Given the description of an element on the screen output the (x, y) to click on. 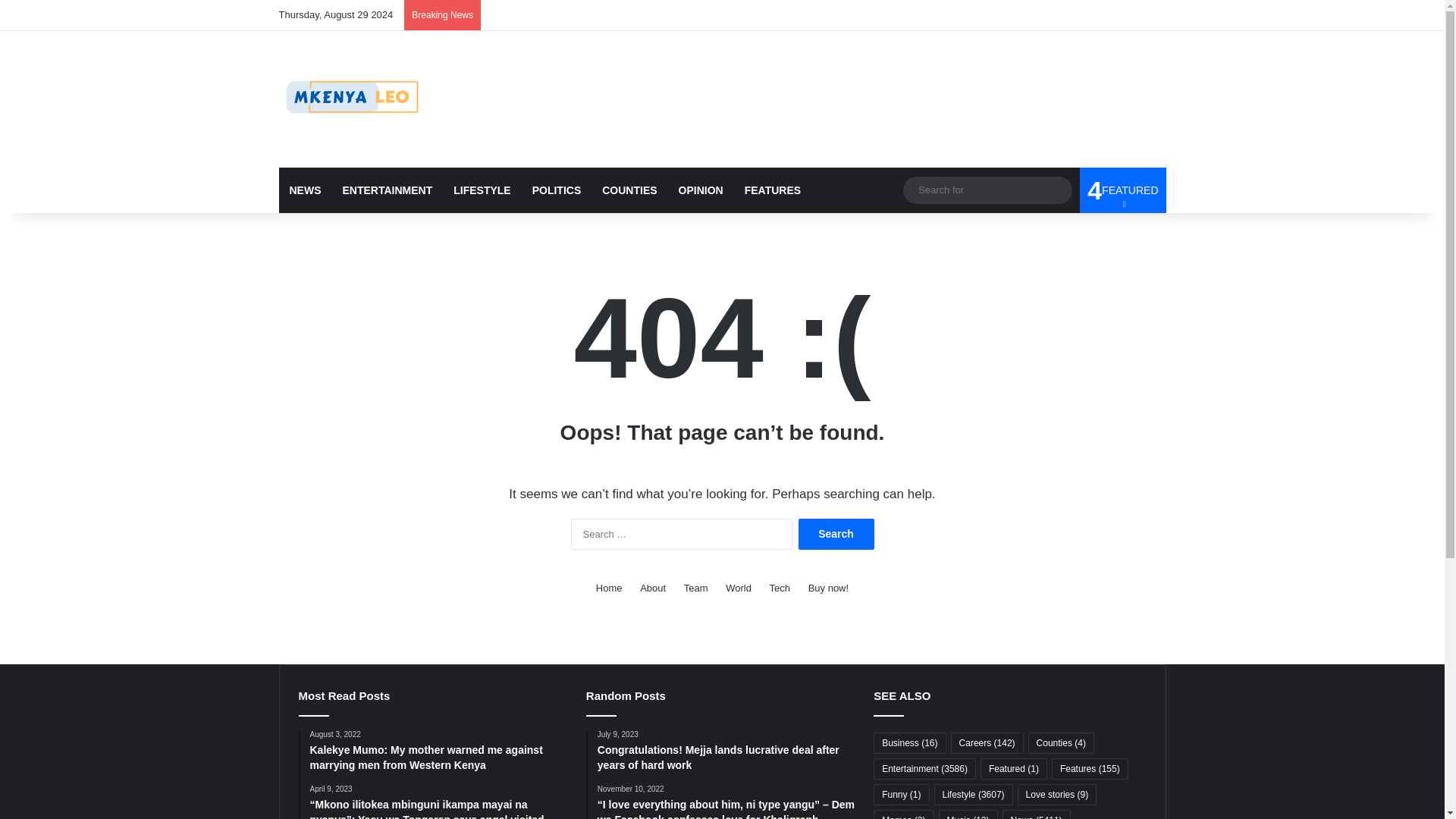
Home (1123, 189)
NEWS (609, 587)
Search for (305, 189)
ENTERTAINMENT (986, 189)
MKENYA LEO (387, 189)
Search (354, 99)
About (835, 533)
Search (652, 587)
Search for (835, 533)
